Given the description of an element on the screen output the (x, y) to click on. 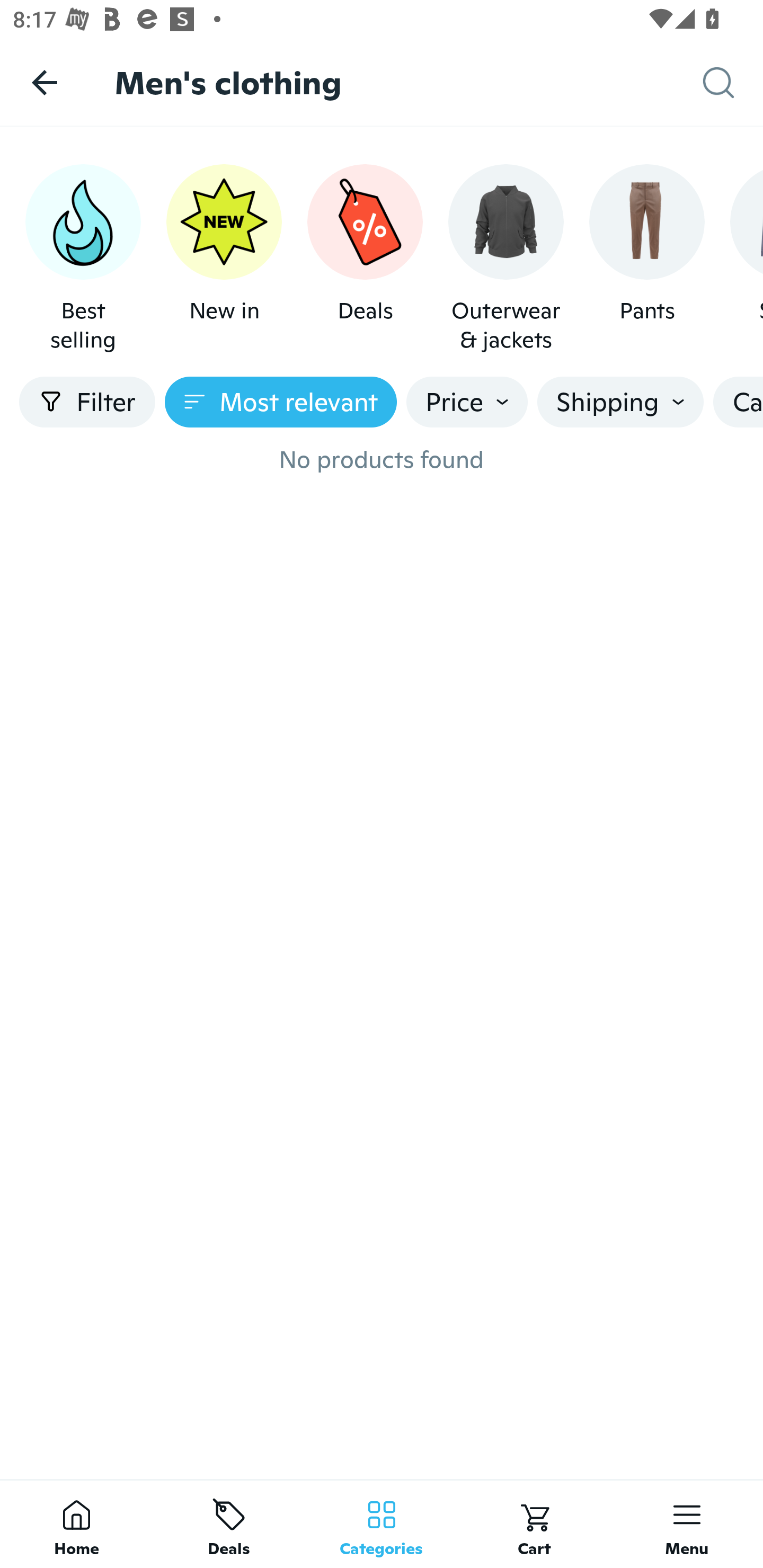
Navigate up (44, 82)
Search (732, 82)
Best selling (83, 259)
New in (223, 259)
Deals (364, 259)
Outerwear & jackets (505, 259)
Pants (647, 259)
Filter (86, 402)
Most relevant (280, 402)
Price (466, 402)
Shipping (620, 402)
Home (76, 1523)
Deals (228, 1523)
Categories (381, 1523)
Cart (533, 1523)
Menu (686, 1523)
